Given the description of an element on the screen output the (x, y) to click on. 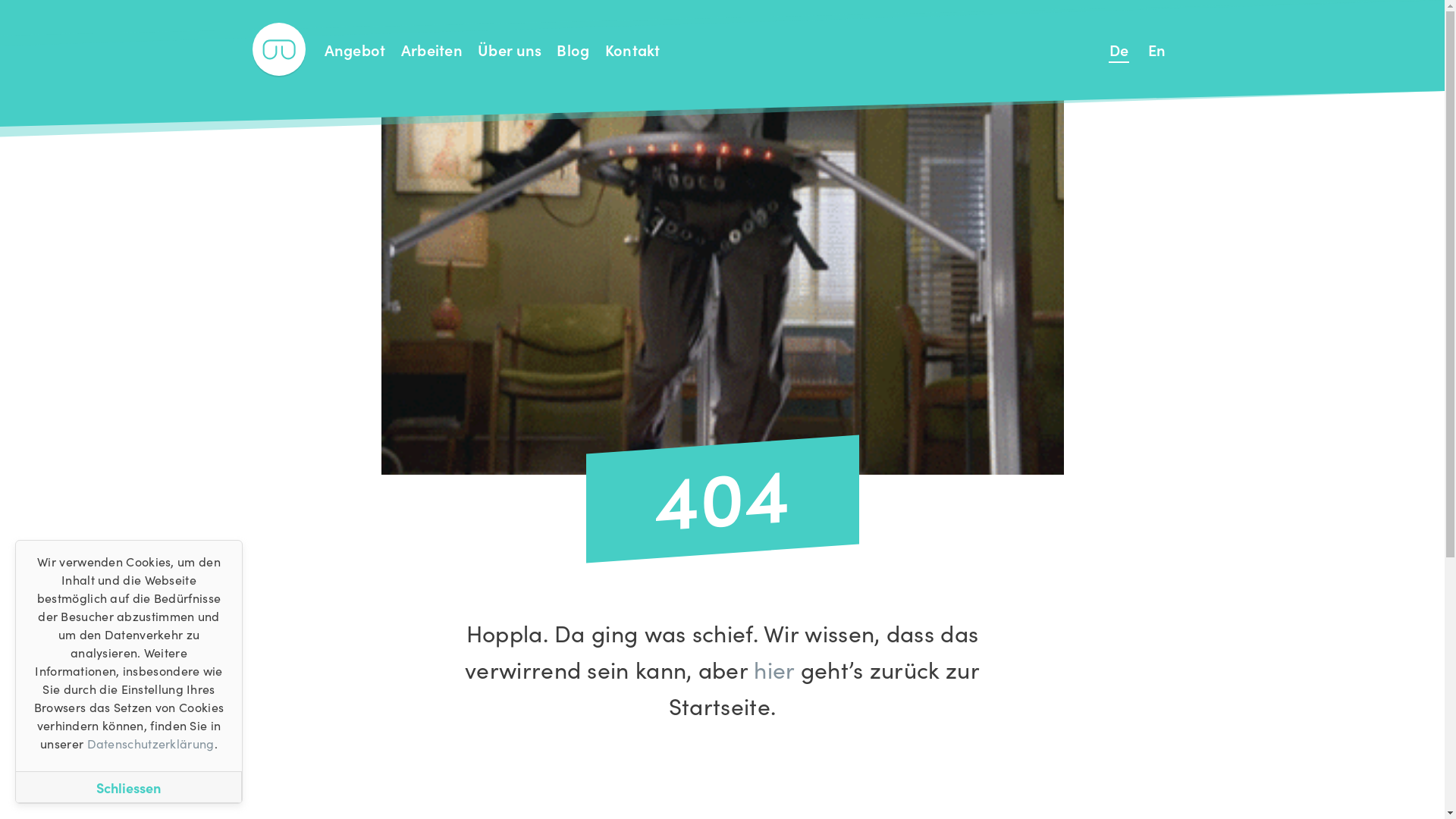
Arbeiten Element type: text (431, 48)
En Element type: text (1157, 48)
Angebot Element type: text (354, 48)
De Element type: text (1119, 48)
Kontakt Element type: text (632, 48)
Blog Element type: text (572, 48)
Schliessen Element type: text (128, 787)
hier Element type: text (773, 668)
